Given the description of an element on the screen output the (x, y) to click on. 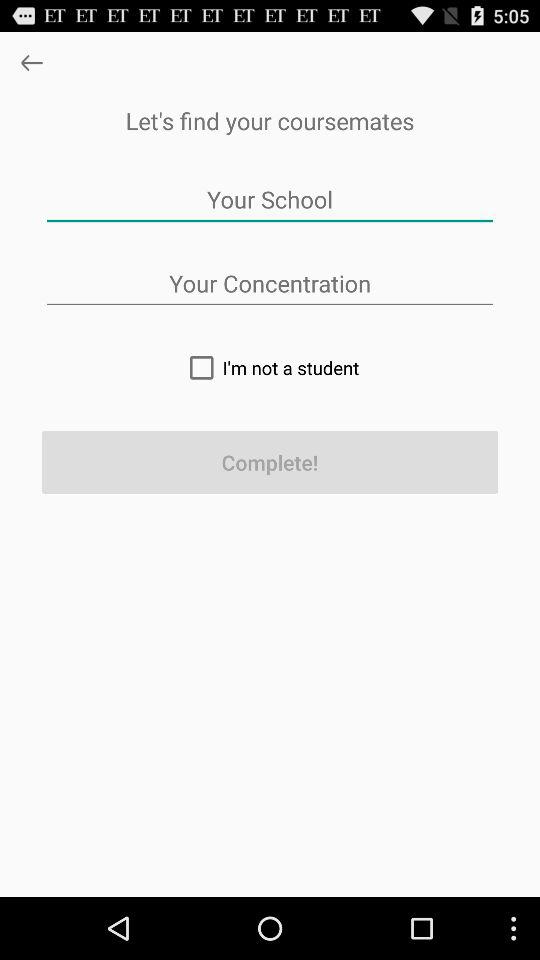
jump until the i m not item (269, 367)
